Given the description of an element on the screen output the (x, y) to click on. 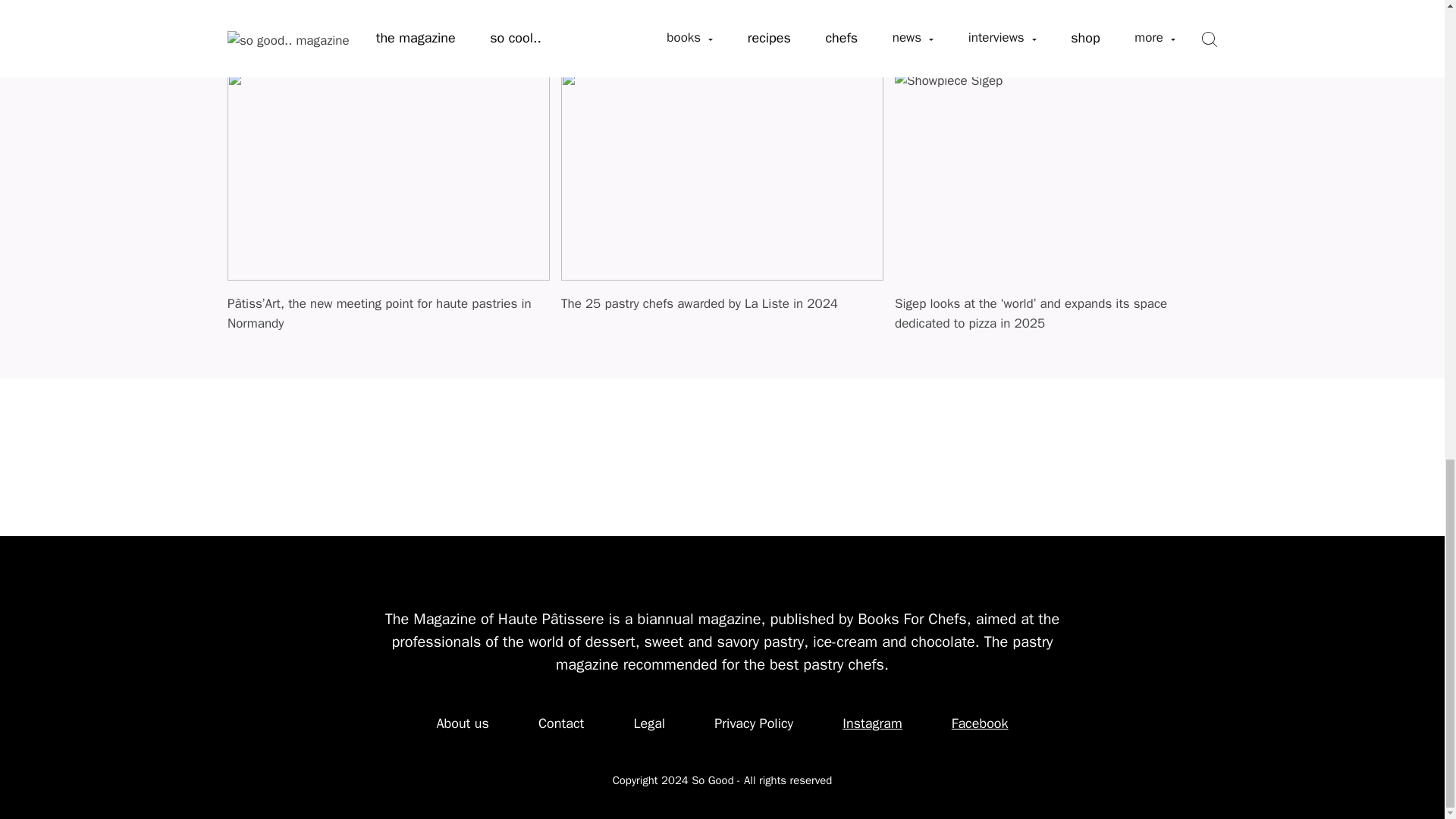
About us (462, 723)
Contact (561, 723)
The 25 pastry chefs awarded by La Liste in 2024 (721, 312)
Legal (648, 723)
